Given the description of an element on the screen output the (x, y) to click on. 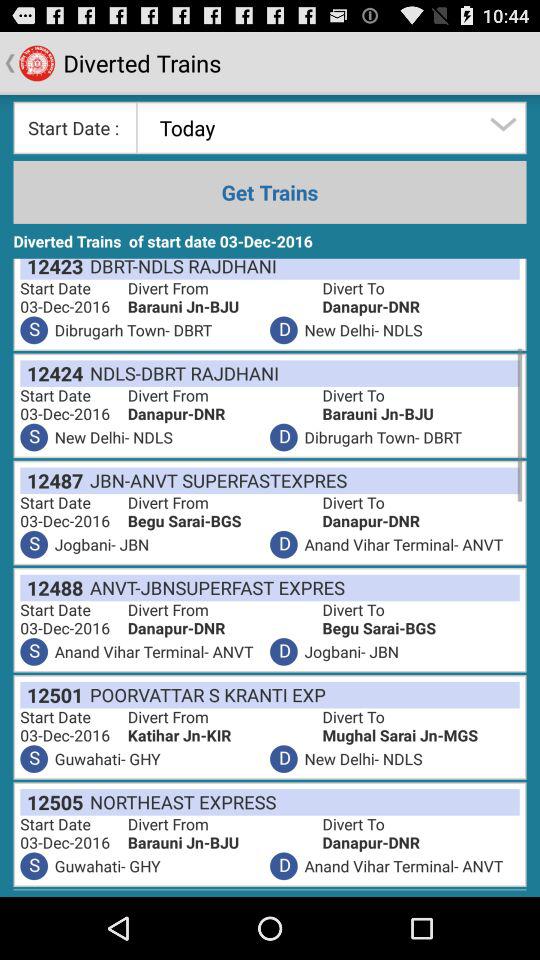
open app below   d item (179, 801)
